Given the description of an element on the screen output the (x, y) to click on. 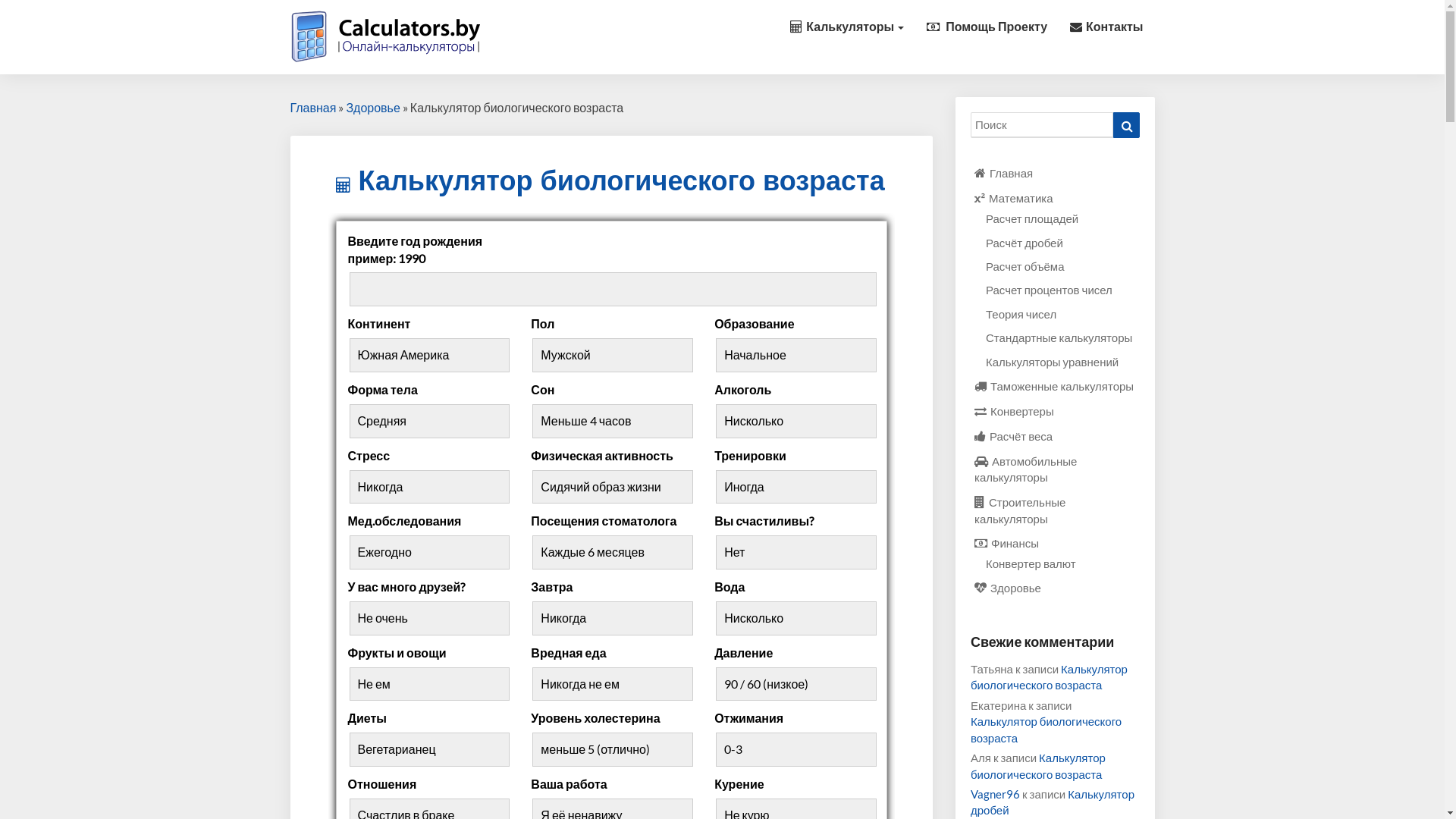
Vagner96 Element type: text (994, 793)
